Given the description of an element on the screen output the (x, y) to click on. 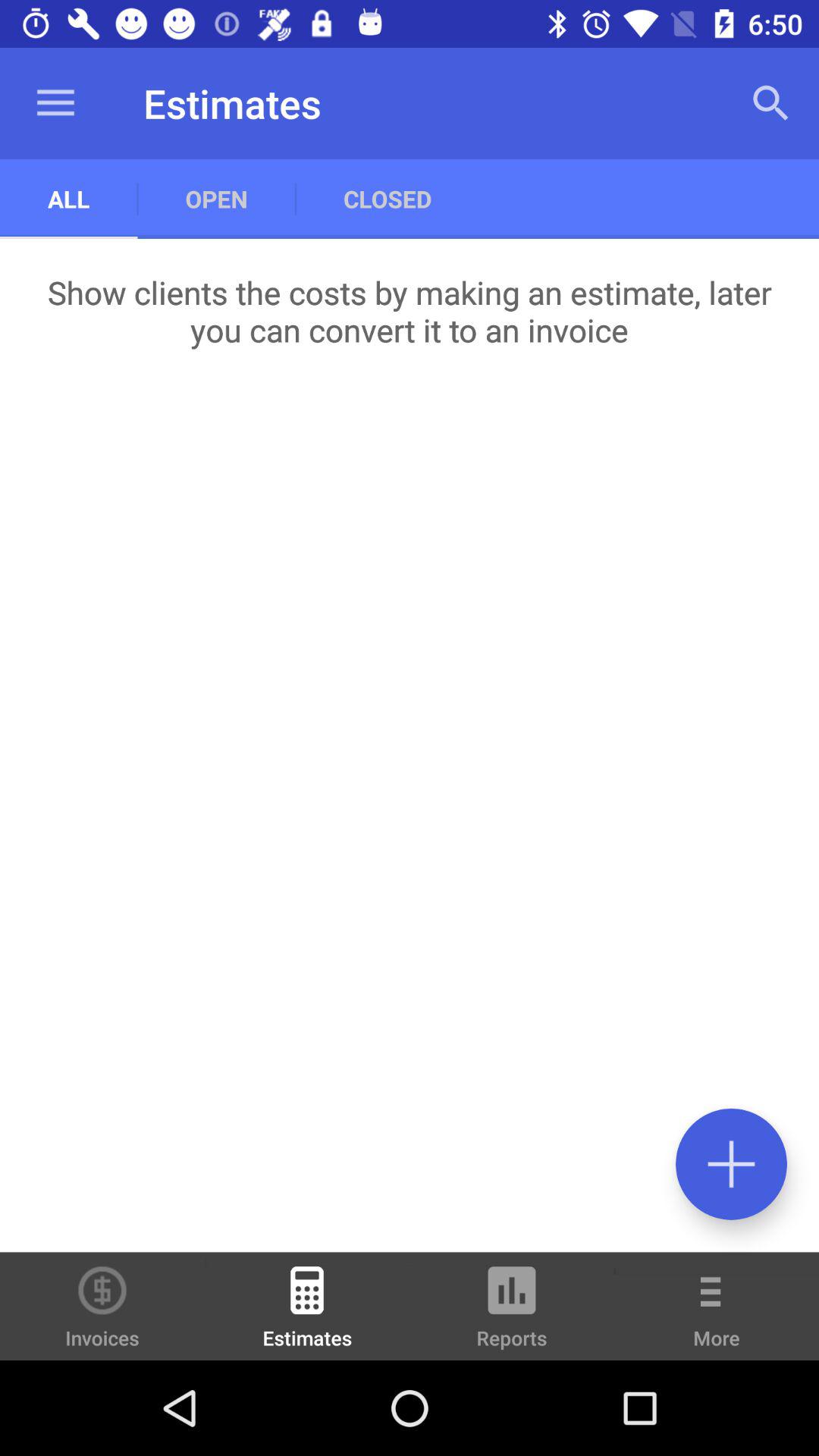
add an entry (731, 1163)
